Given the description of an element on the screen output the (x, y) to click on. 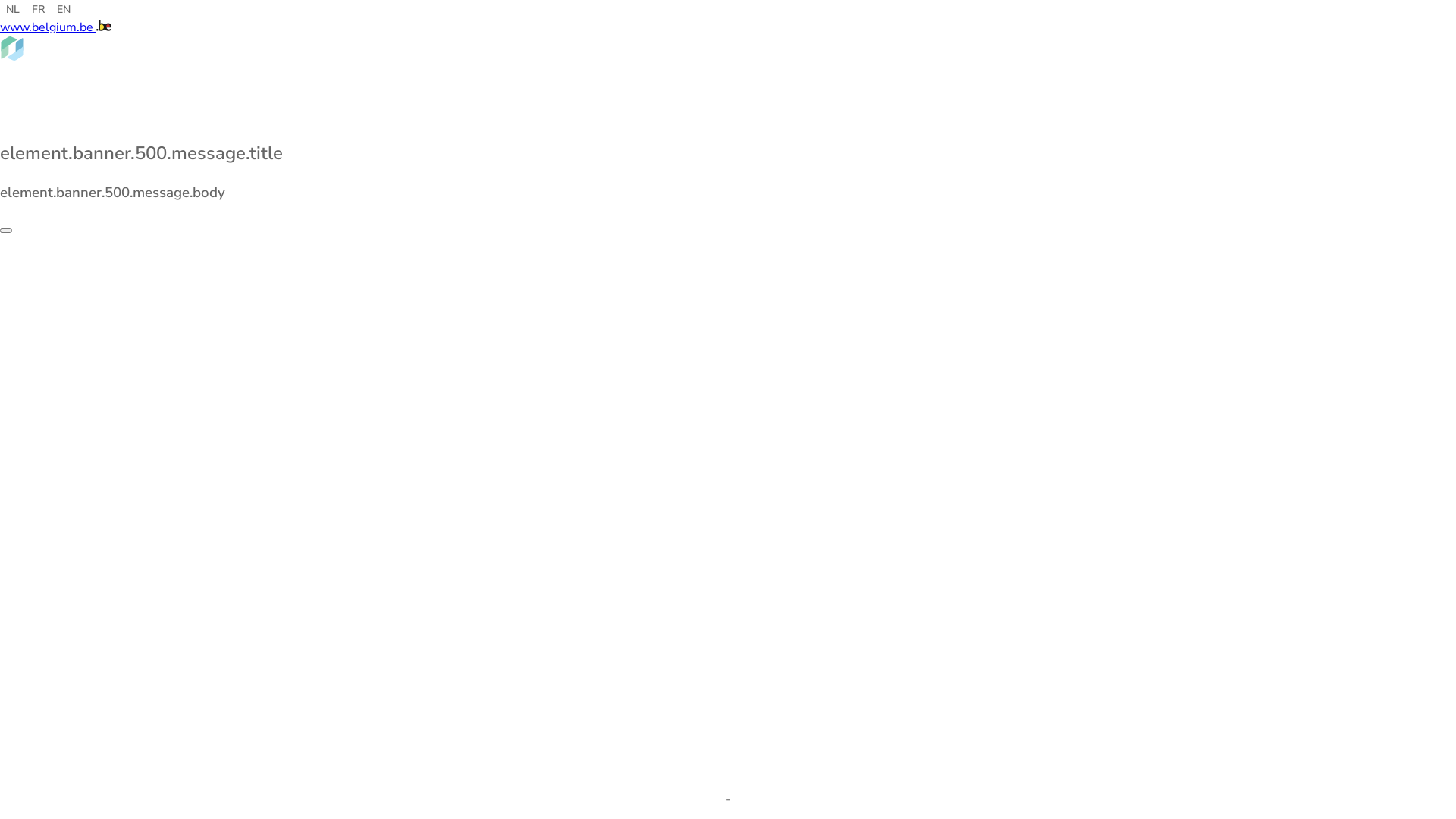
element.banner.close Element type: hover (6, 230)
www.belgium.be Element type: text (48, 26)
